Given the description of an element on the screen output the (x, y) to click on. 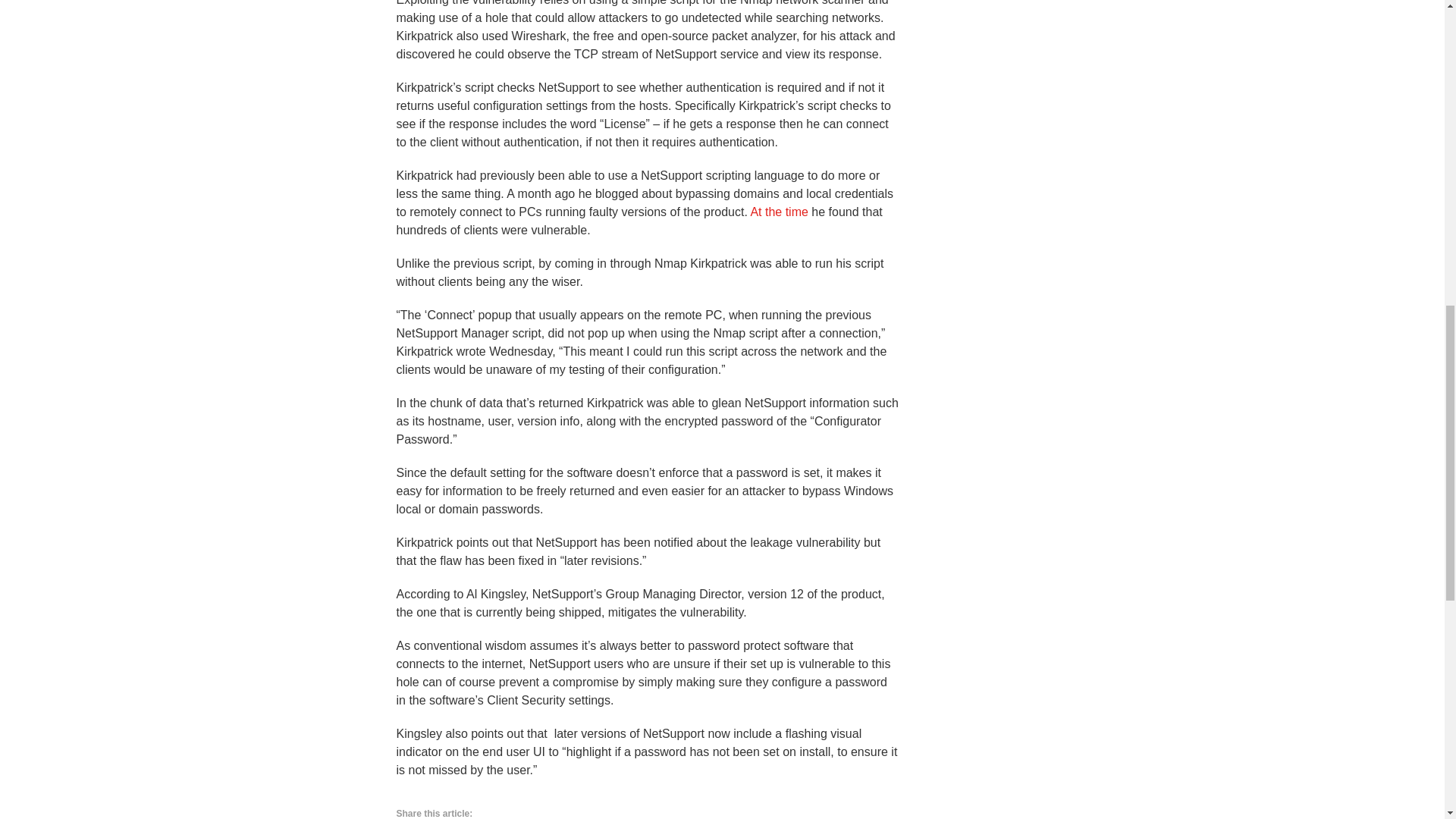
At the time (778, 211)
